Given the description of an element on the screen output the (x, y) to click on. 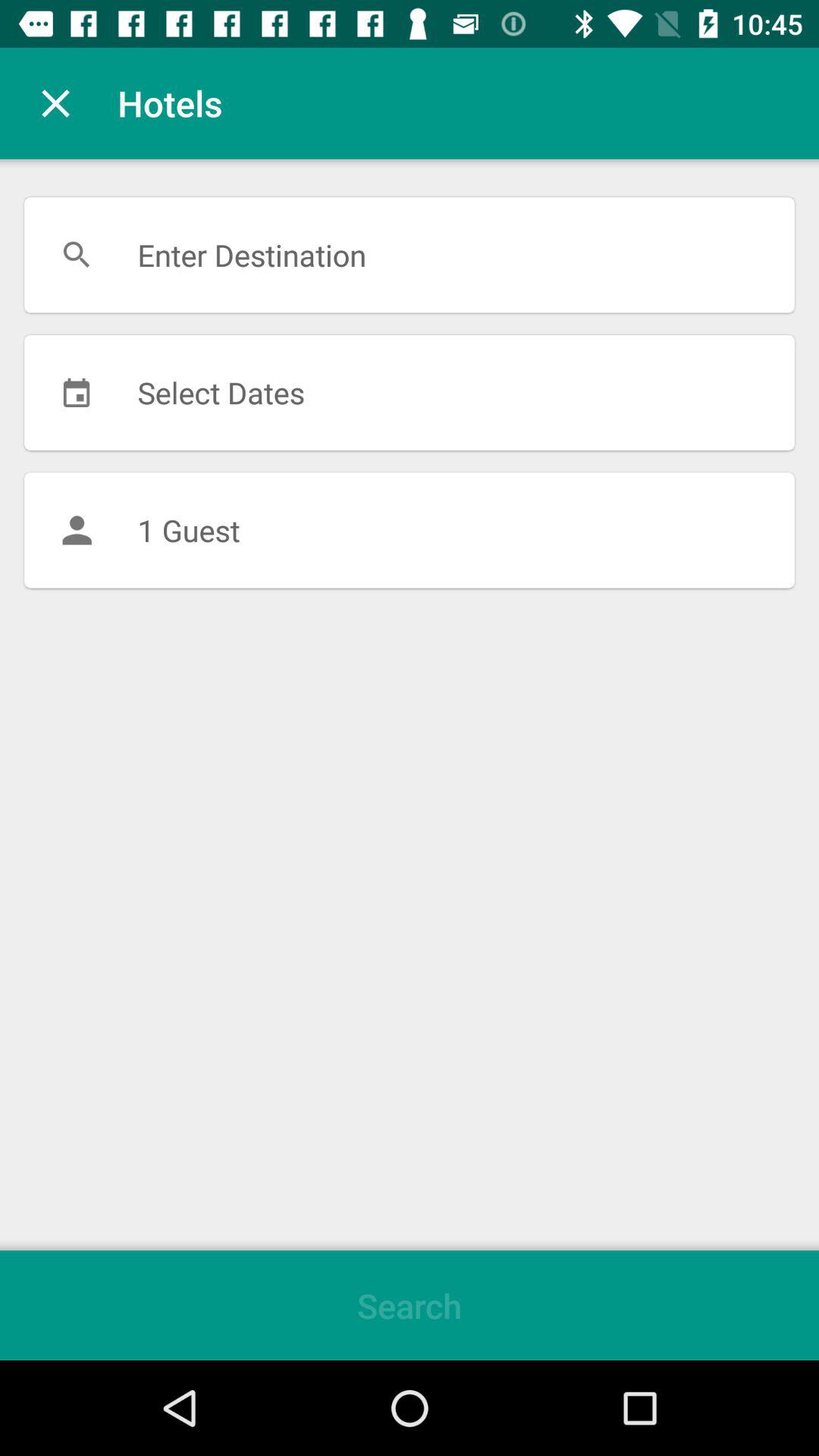
open the icon above 1 guest item (409, 392)
